Given the description of an element on the screen output the (x, y) to click on. 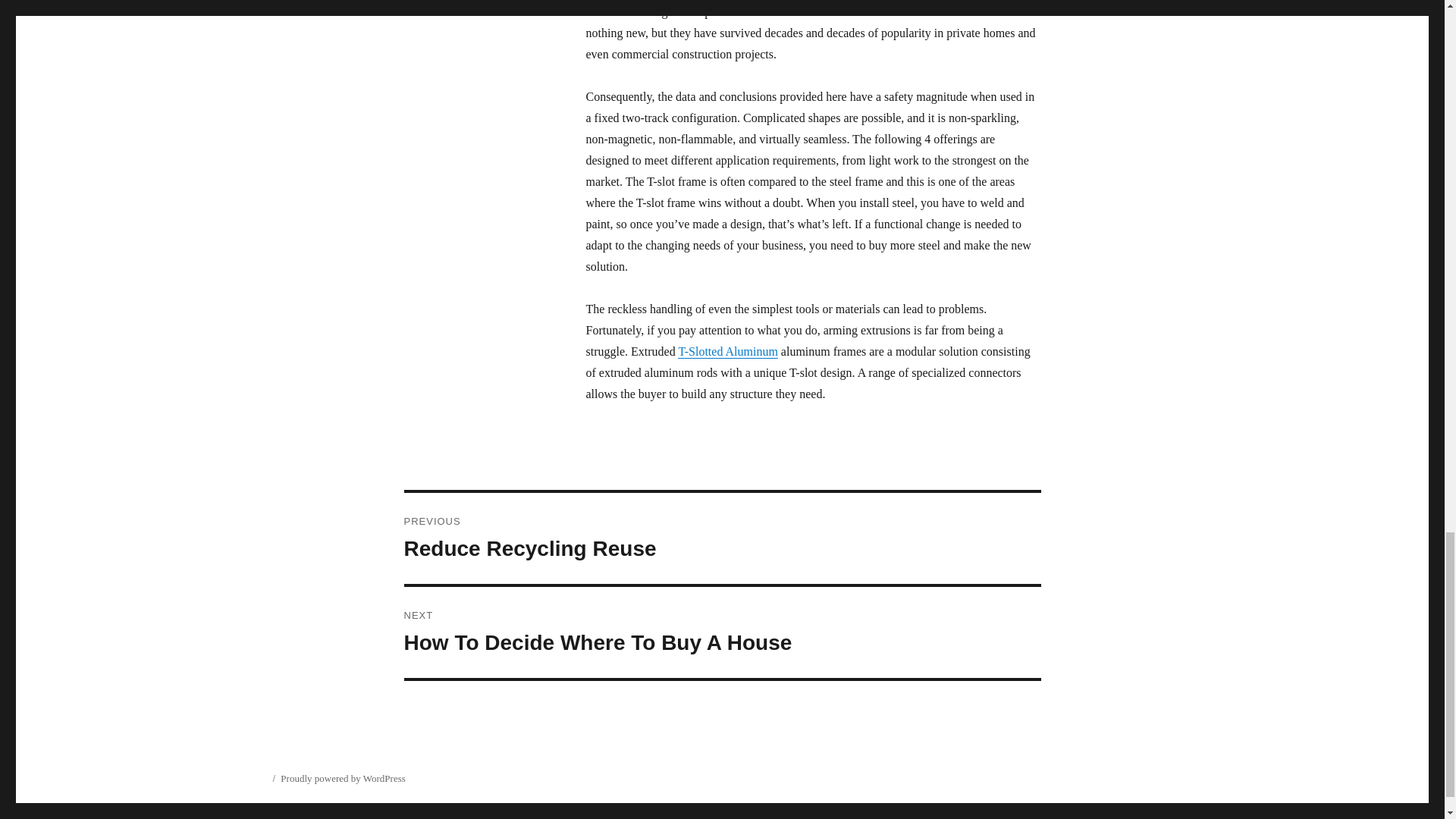
Proudly powered by WordPress (342, 778)
T-Slotted Aluminum (727, 350)
